Given the description of an element on the screen output the (x, y) to click on. 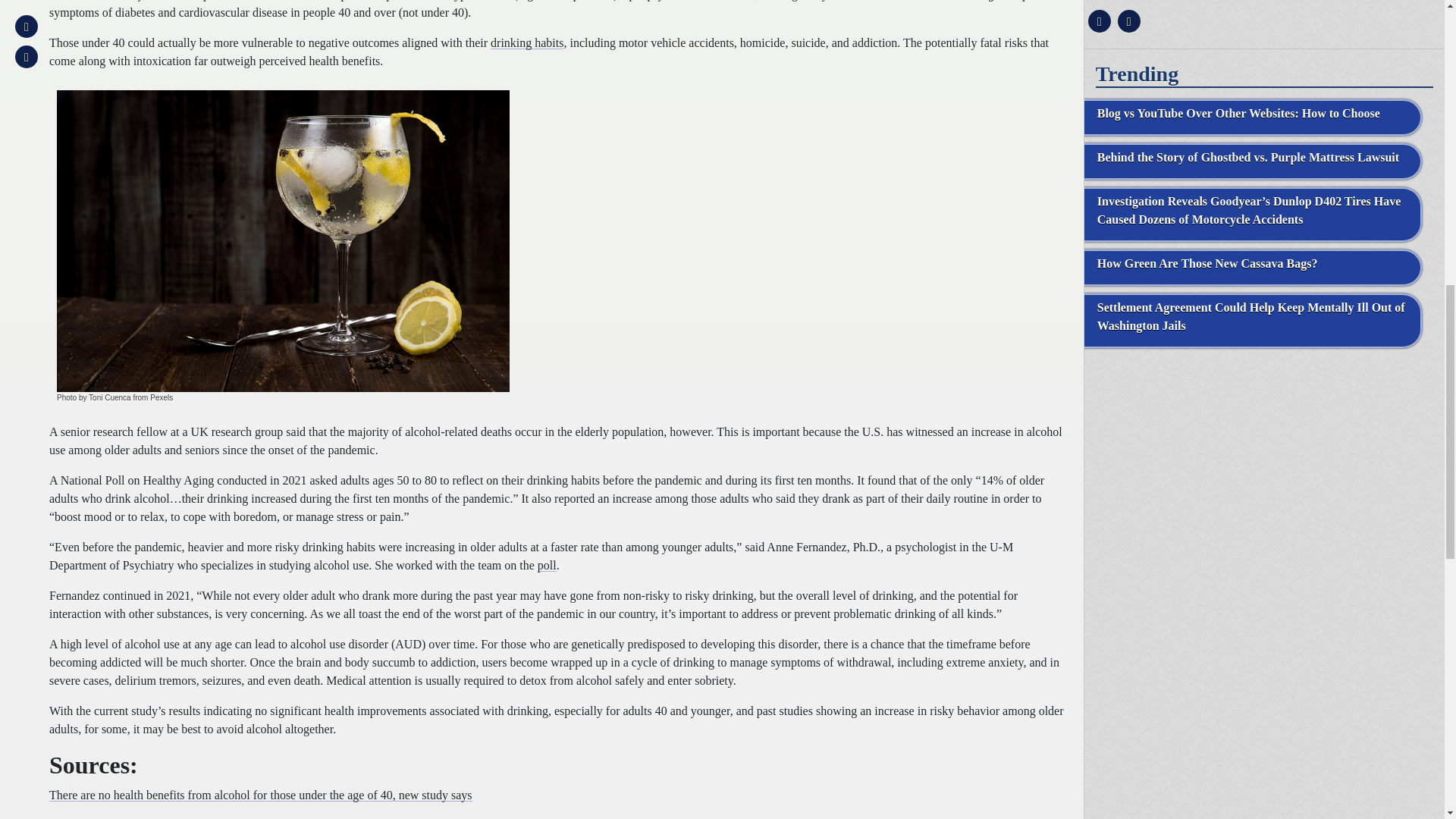
poll (546, 564)
drinking habits (526, 42)
